Given the description of an element on the screen output the (x, y) to click on. 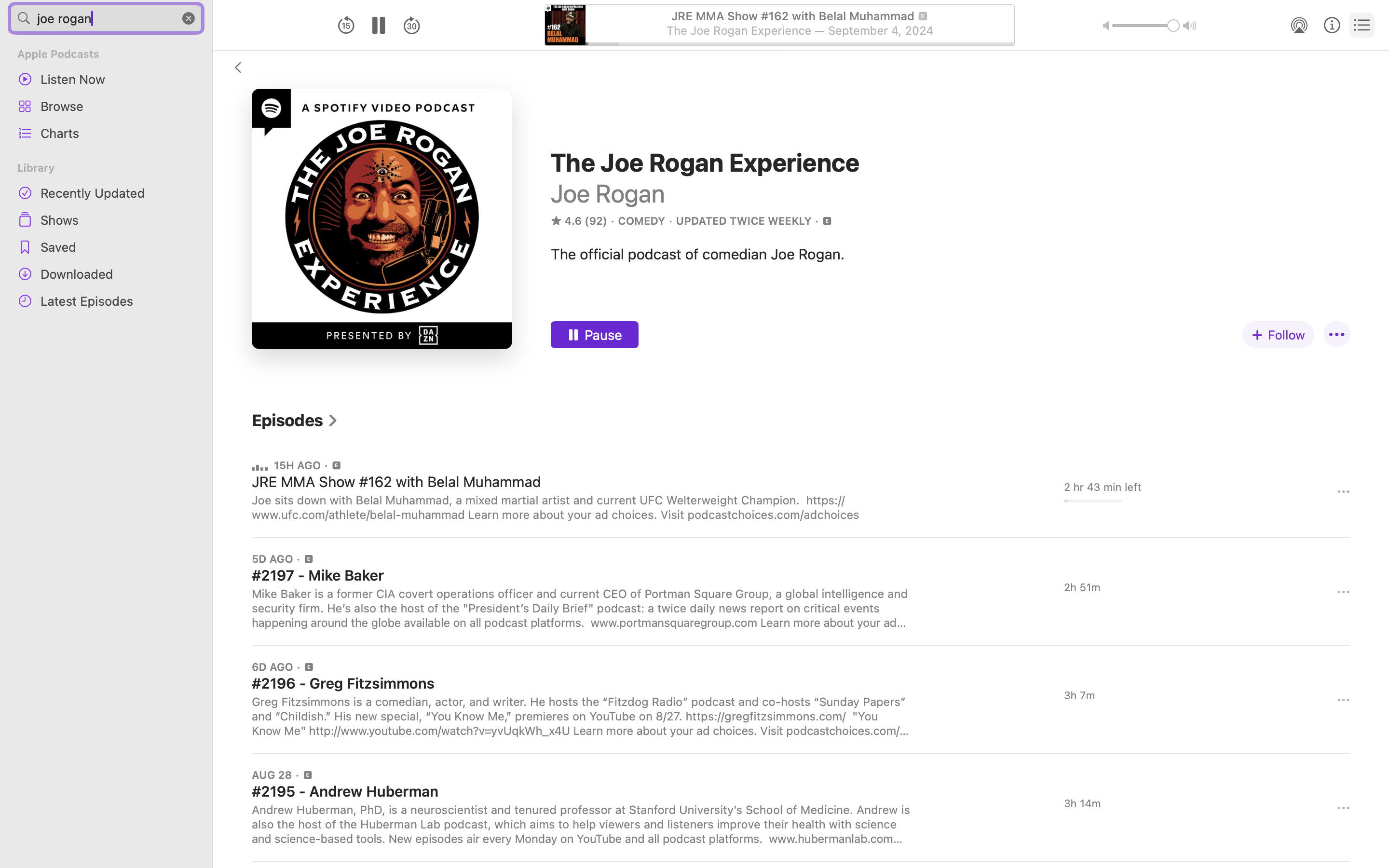
joe rogan Element type: AXTextField (105, 17)
1.0 Element type: AXSlider (1145, 25)
2.984113931655884 Element type: AXSlider (799, 45)
